Given the description of an element on the screen output the (x, y) to click on. 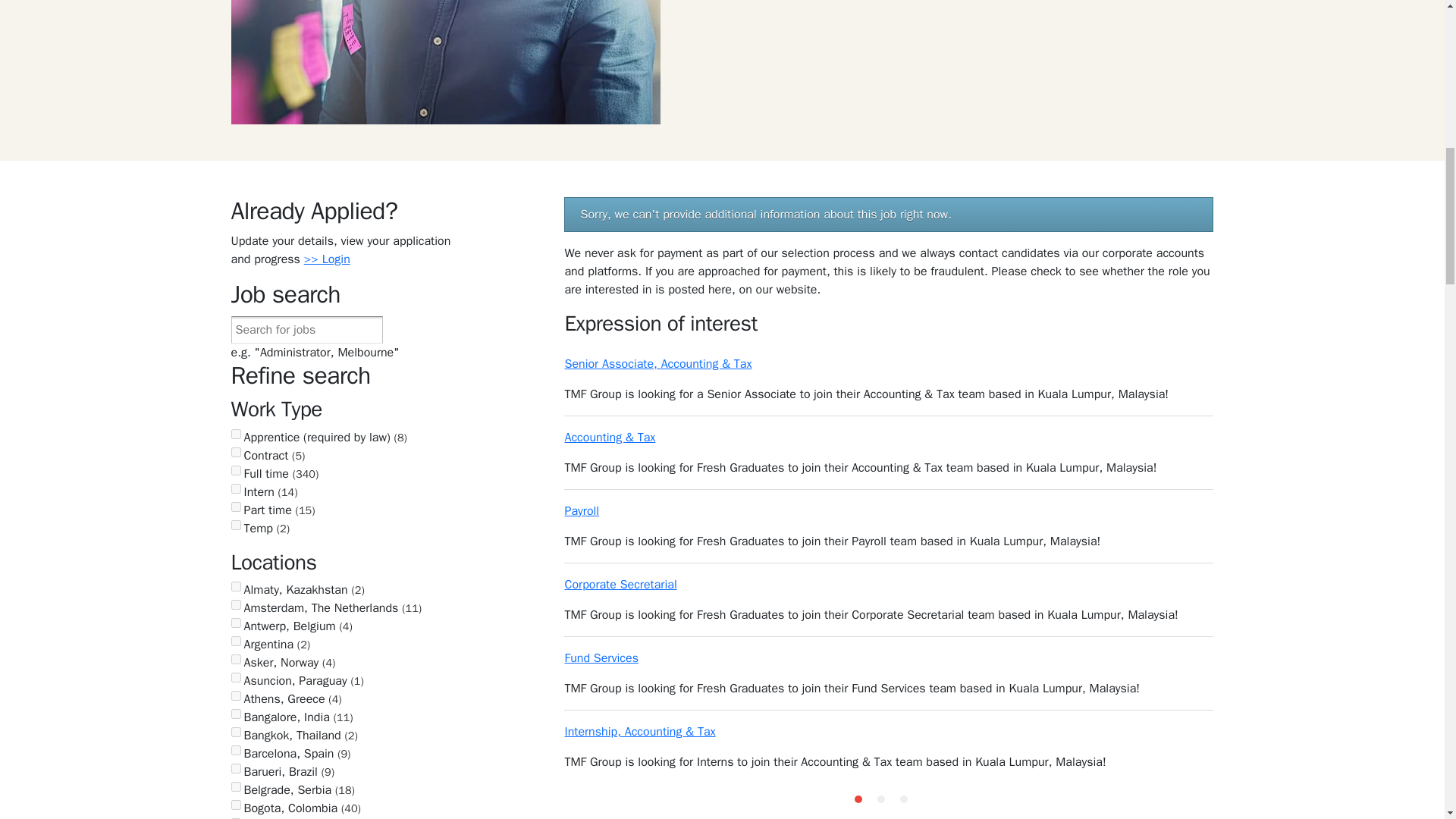
Barcelona Spain (235, 750)
3 (903, 799)
Amsterdam The Netherlands (235, 604)
Asker Norway (235, 659)
Temp (235, 524)
Almaty Kazakhstan (235, 586)
Part time (235, 506)
Barueri Brazil (235, 768)
2 (881, 799)
Full time (235, 470)
